Given the description of an element on the screen output the (x, y) to click on. 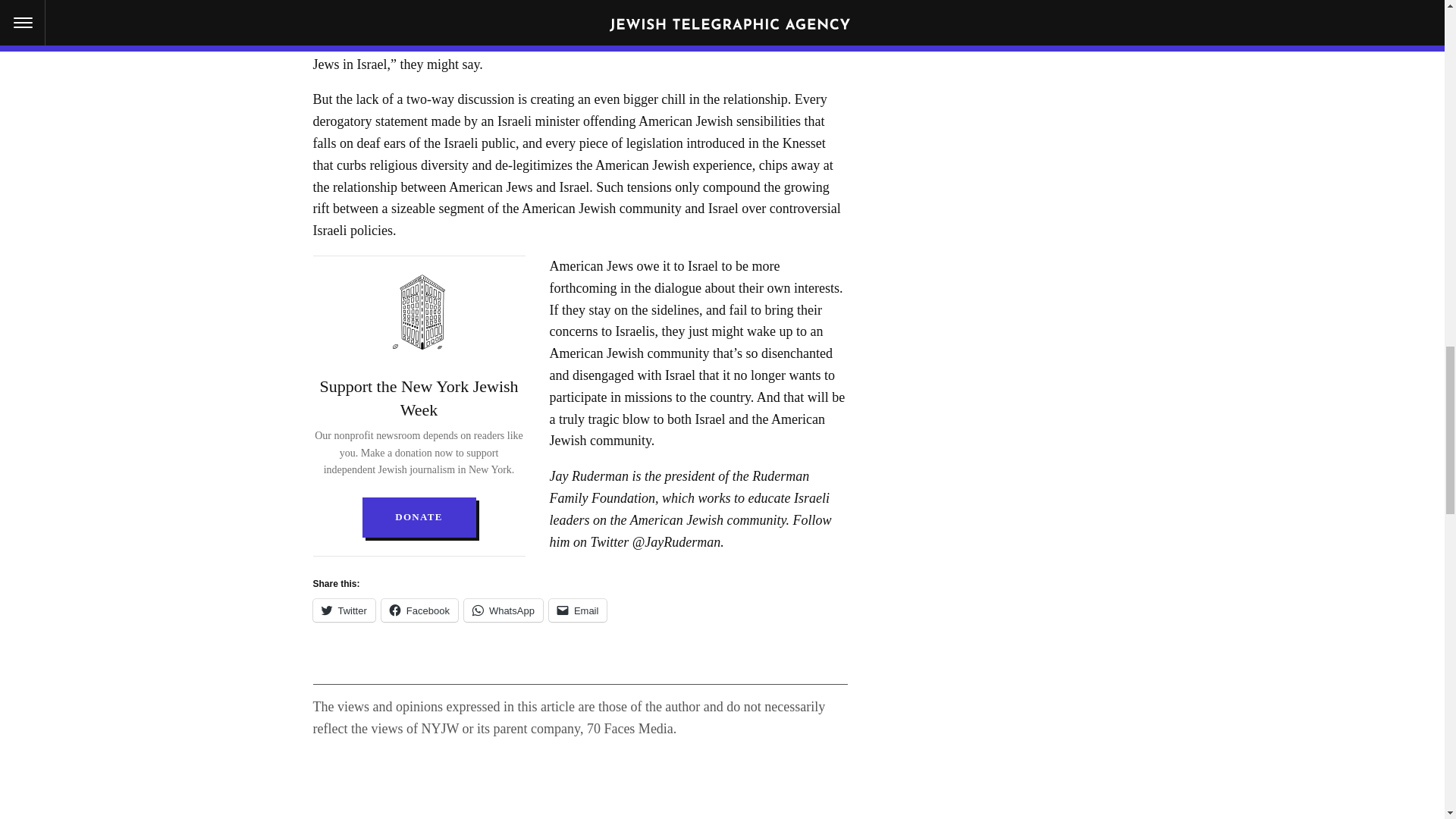
Click to share on Facebook (419, 609)
Click to share on Twitter (343, 609)
Click to email a link to a friend (577, 609)
Click to share on WhatsApp (503, 609)
